Given the description of an element on the screen output the (x, y) to click on. 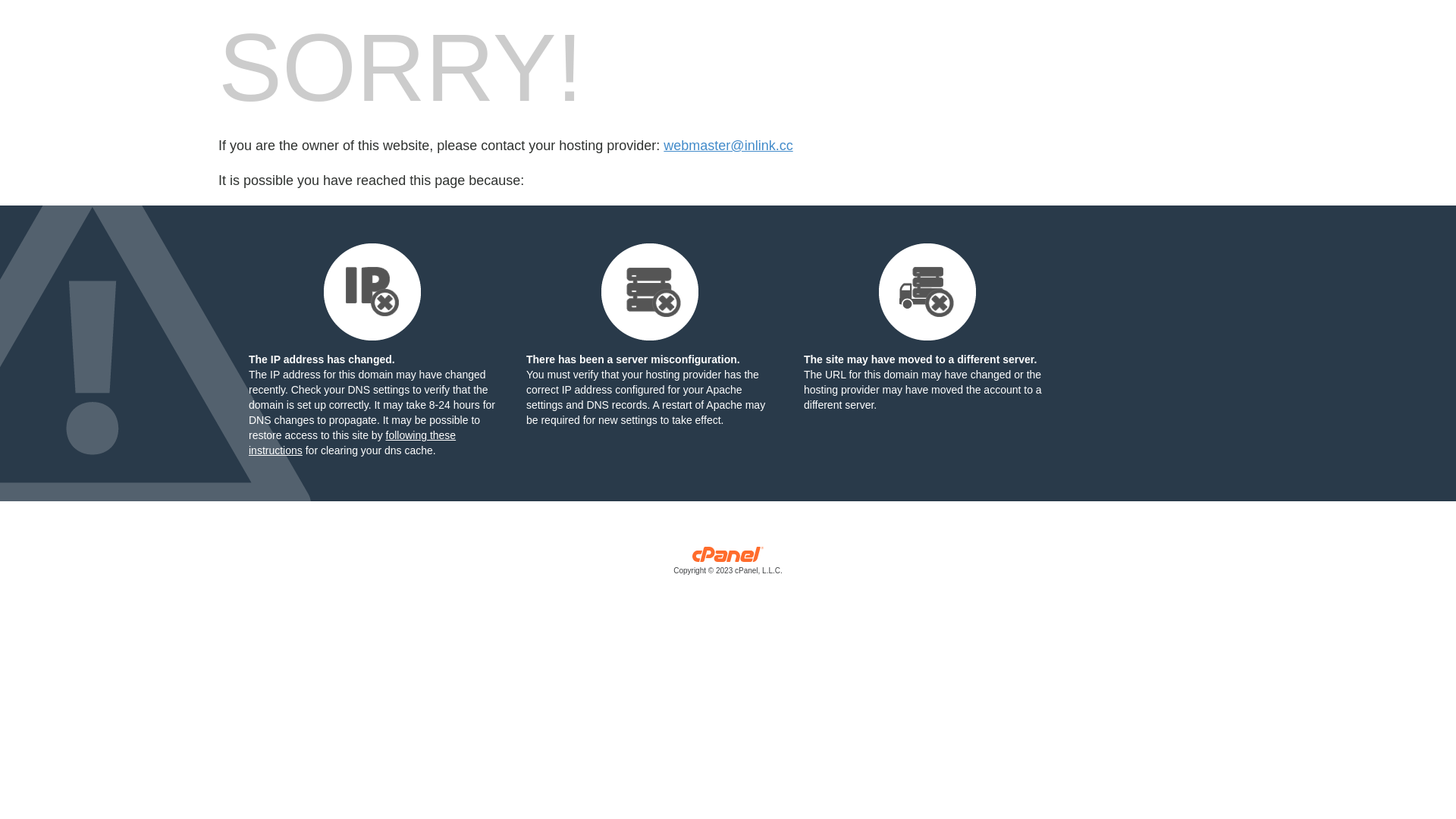
webmaster@inlink.cc Element type: text (727, 145)
following these instructions Element type: text (351, 442)
